Given the description of an element on the screen output the (x, y) to click on. 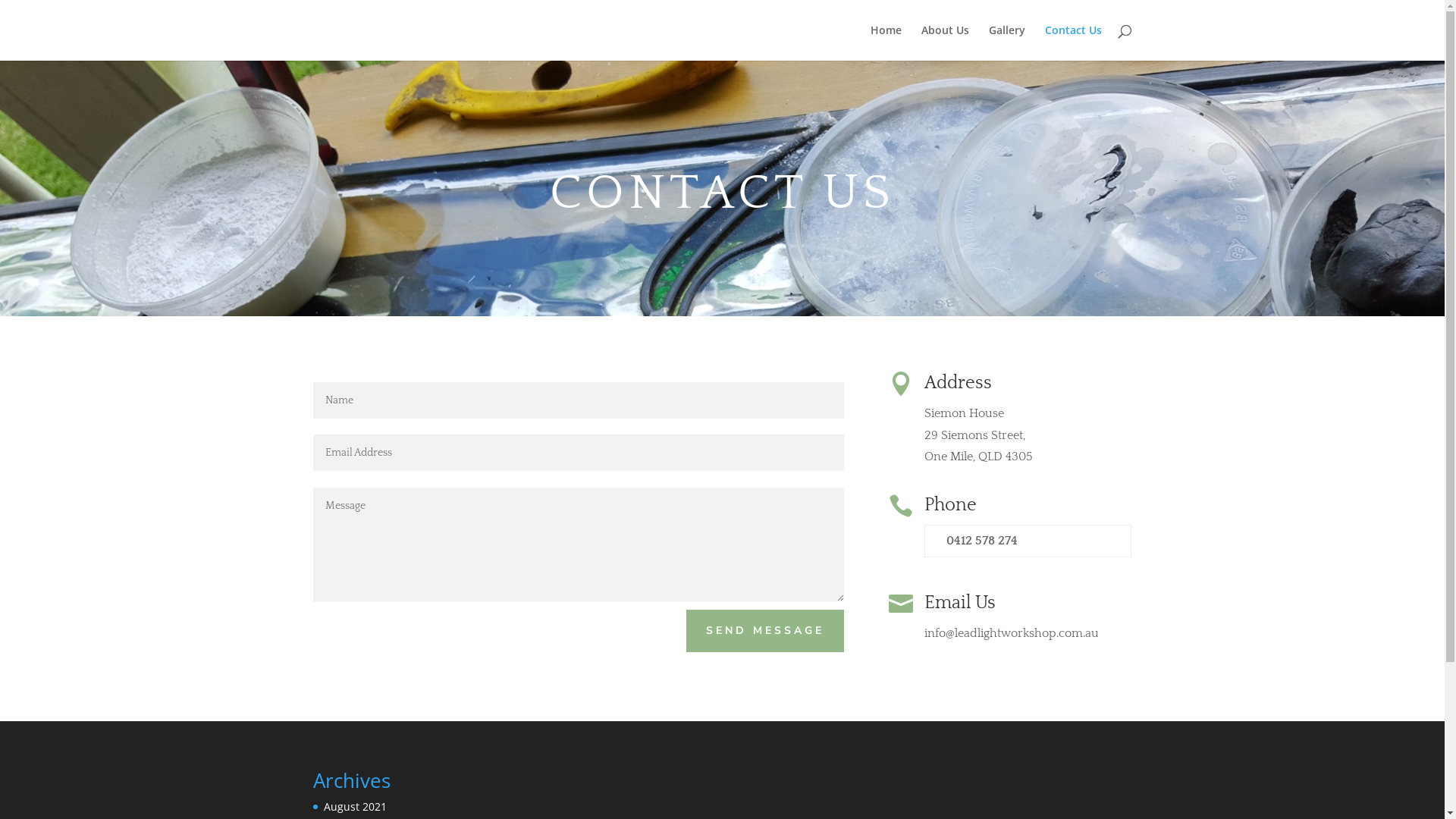
August 2021 Element type: text (354, 806)
Home Element type: text (885, 42)
SEND MESSAGE Element type: text (765, 630)
About Us Element type: text (944, 42)
Gallery Element type: text (1006, 42)
Contact Us Element type: text (1072, 42)
